Given the description of an element on the screen output the (x, y) to click on. 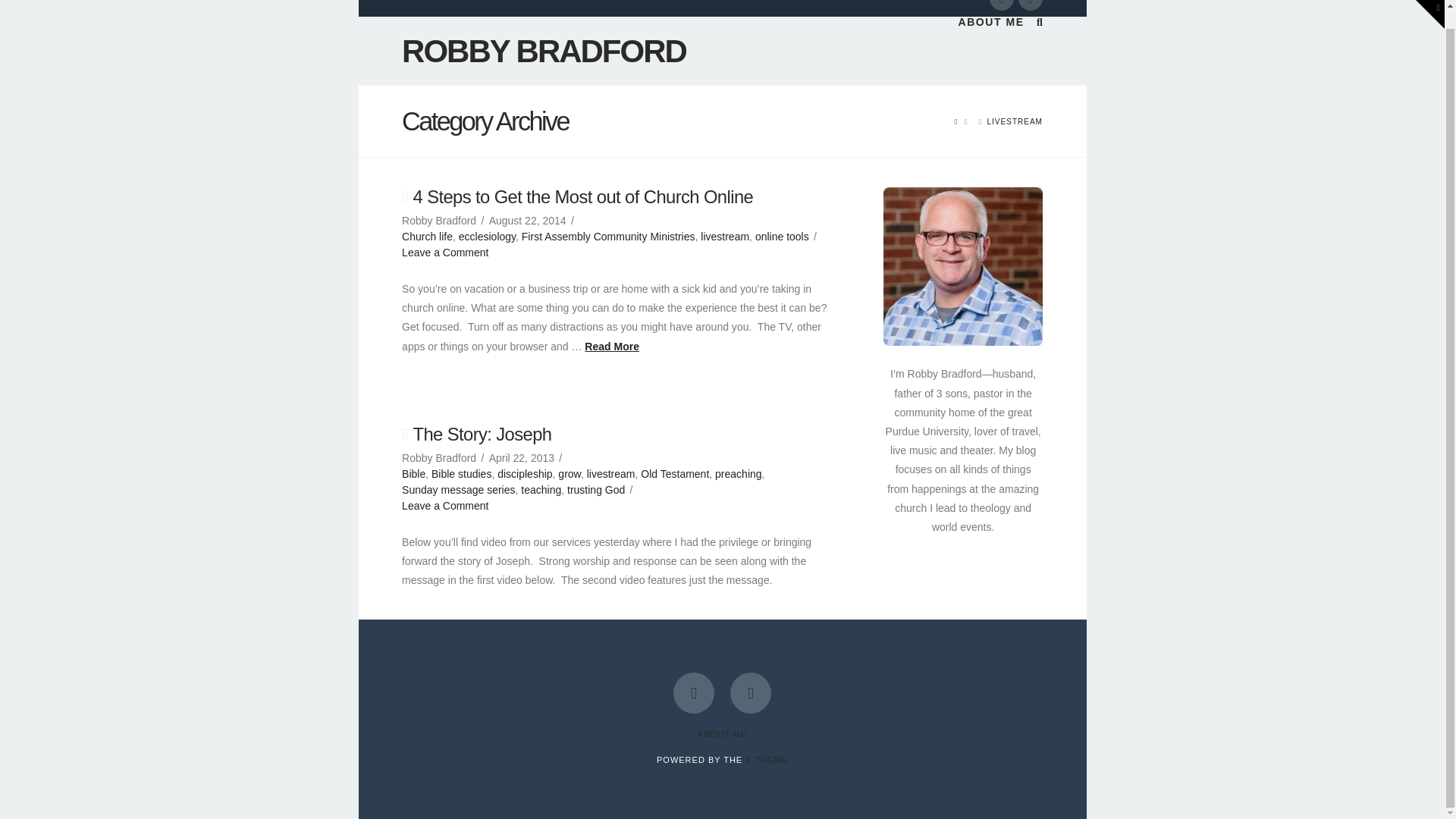
ABOUT ME (991, 50)
preaching (737, 473)
Permalink to: "The Story: Joseph" (481, 434)
Leave a Comment (444, 252)
discipleship (524, 473)
ABOUT ME (721, 733)
grow (568, 473)
livestream (724, 236)
Leave a Comment (444, 505)
Bible studies (461, 473)
